Given the description of an element on the screen output the (x, y) to click on. 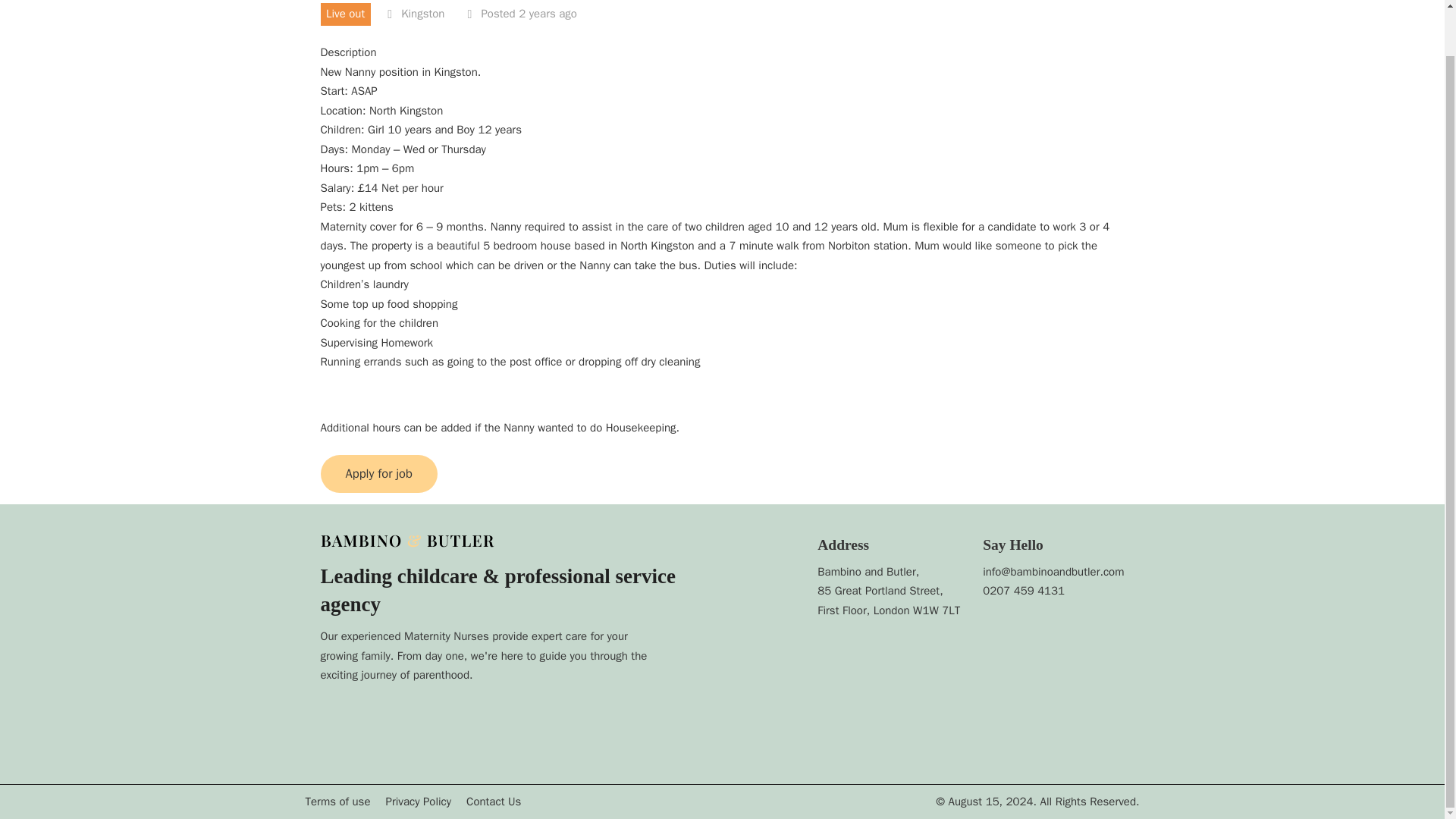
Privacy Policy (418, 802)
Terms of use (336, 802)
Contact Us (493, 802)
Kingston (422, 13)
Apply for job (378, 474)
